Given the description of an element on the screen output the (x, y) to click on. 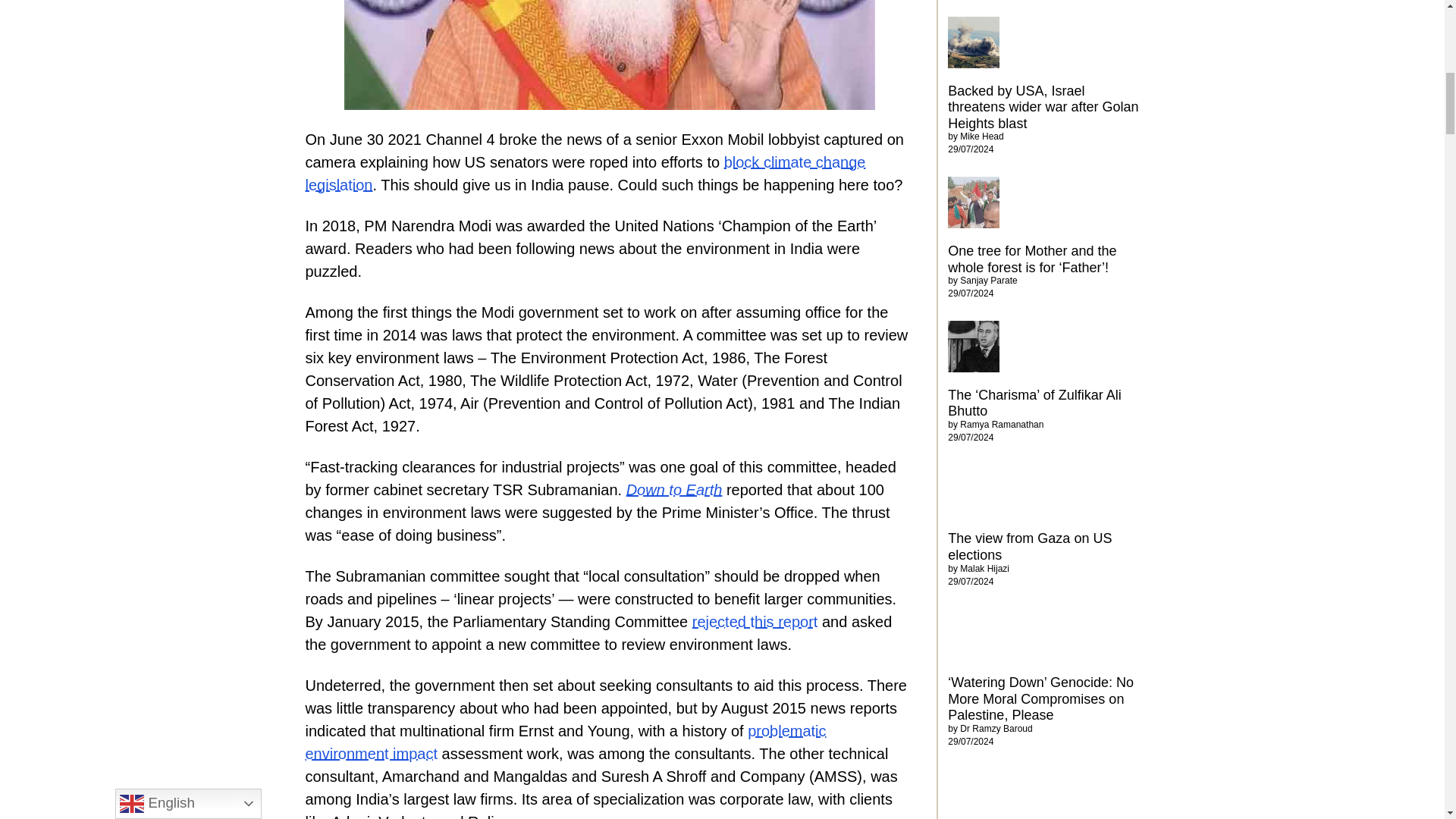
The dubious record of the UN Champion of the Earth 2 (609, 54)
